Given the description of an element on the screen output the (x, y) to click on. 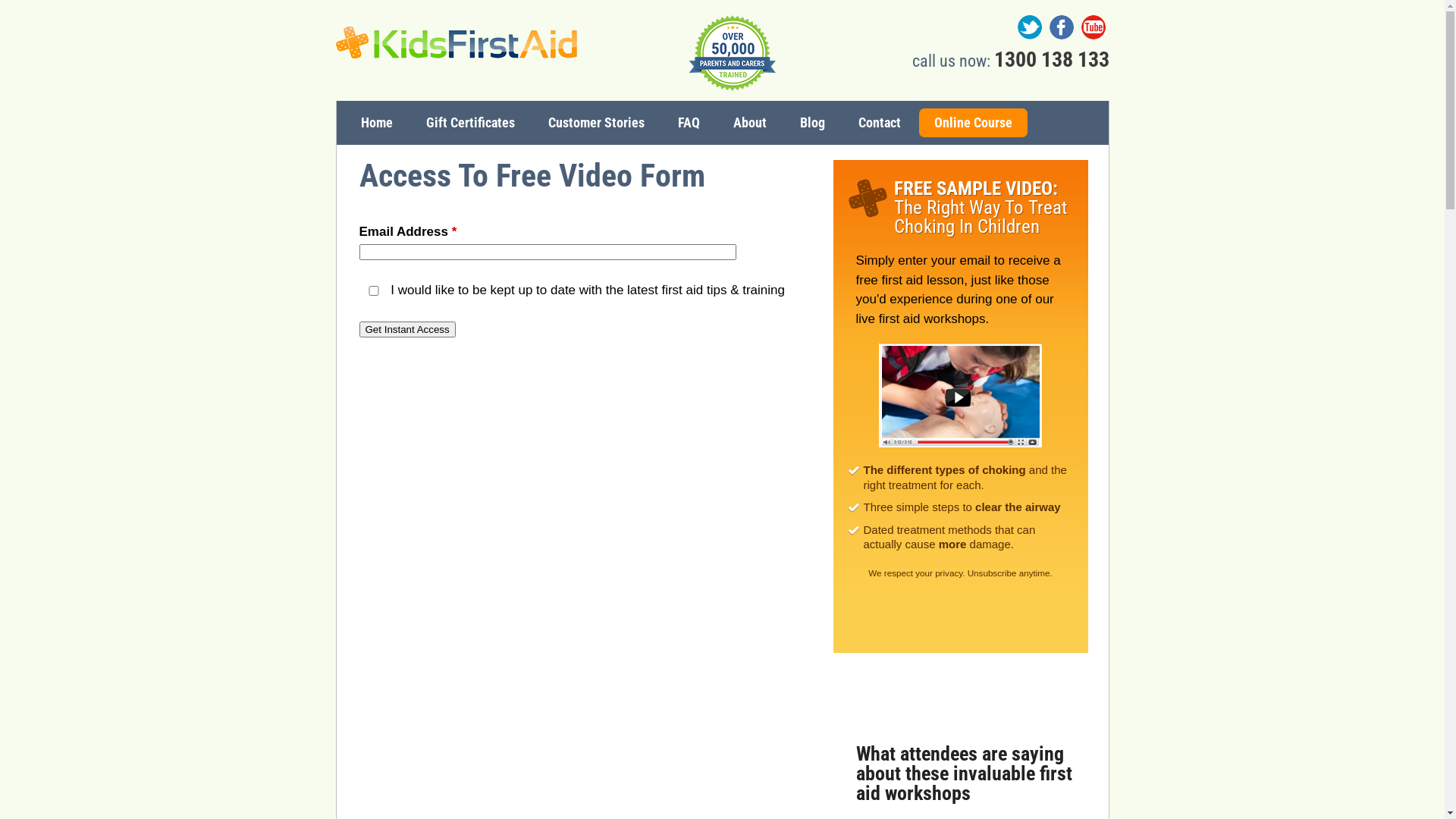
Customer Stories Element type: text (595, 122)
Contact Element type: text (879, 122)
Gift Certificates Element type: text (470, 122)
Home Element type: hover (455, 42)
Online Course Element type: text (973, 122)
Home Element type: text (376, 122)
Jump to Navigation Element type: text (45, 15)
FAQ Element type: text (688, 122)
Get Instant Access Element type: text (407, 329)
Blog Element type: text (811, 122)
About Element type: text (749, 122)
